Given the description of an element on the screen output the (x, y) to click on. 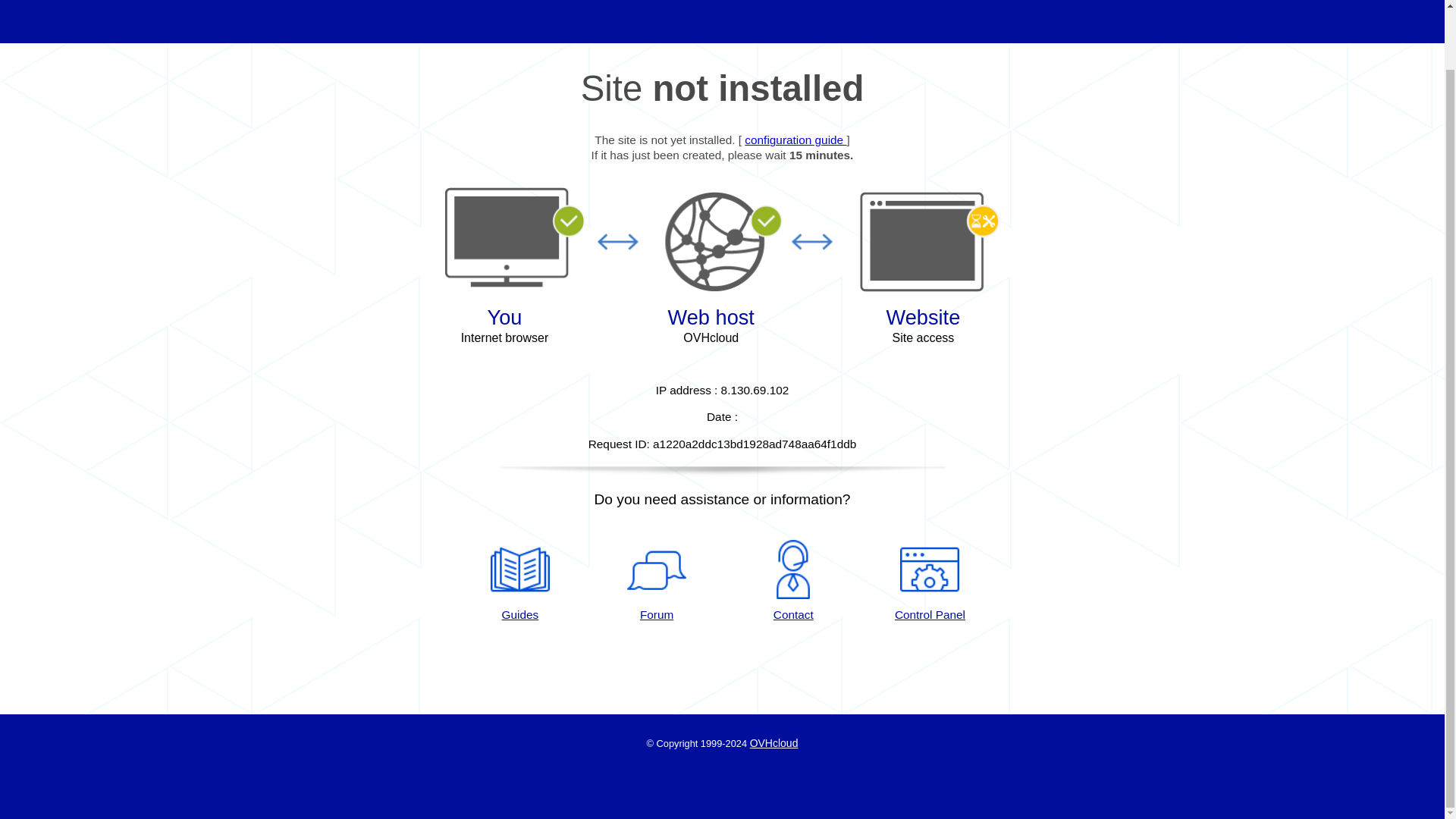
Forum (656, 581)
configuration guide (794, 139)
Contact (793, 581)
Contact (793, 581)
Guides (519, 581)
Forum (656, 581)
OVHcloud (773, 743)
Guides (794, 139)
Guides (519, 581)
Control Panel (930, 581)
Control Panel (930, 581)
